Given the description of an element on the screen output the (x, y) to click on. 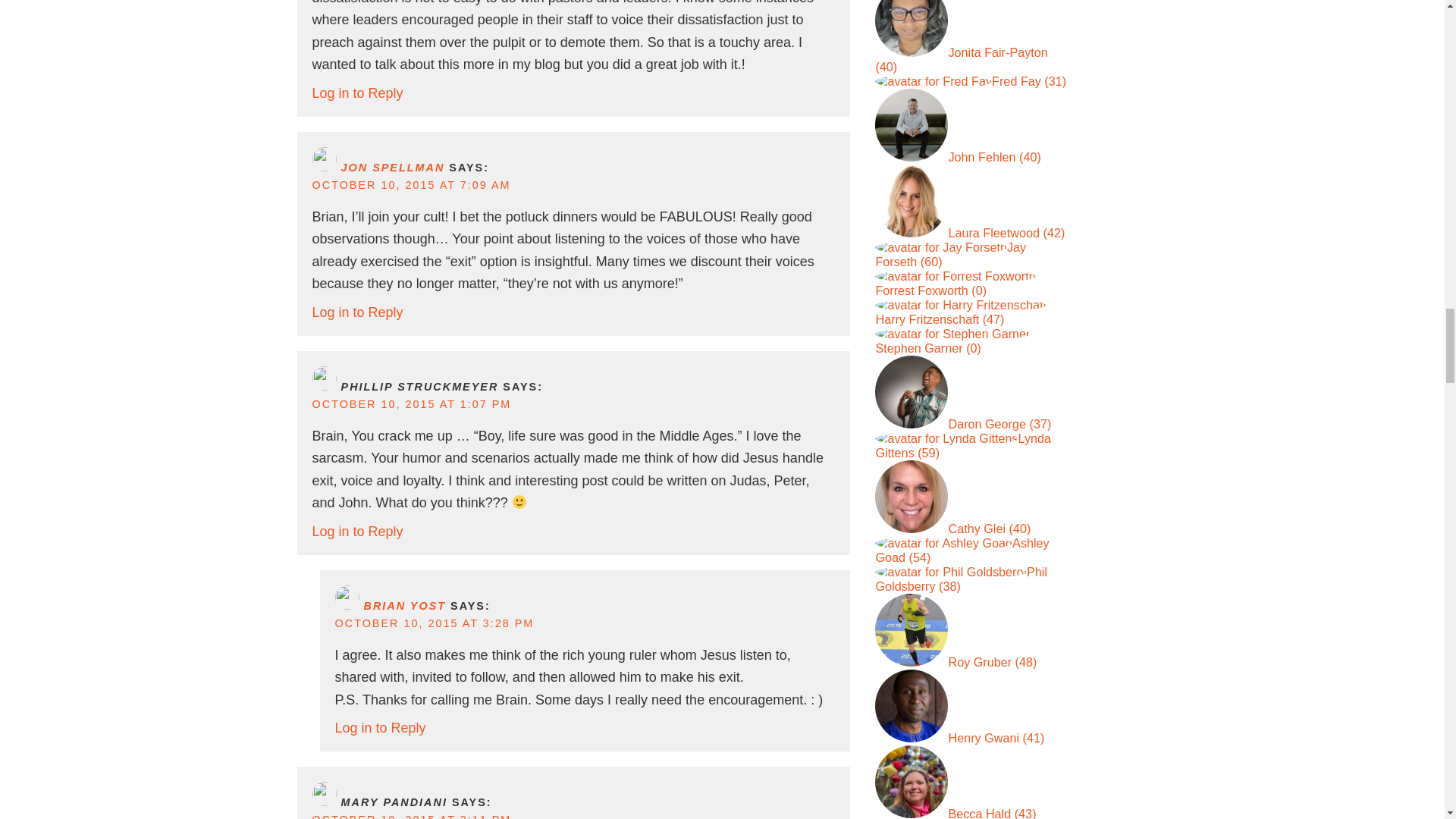
Log in to Reply (380, 727)
OCTOBER 10, 2015 AT 1:07 PM (412, 404)
Log in to Reply (358, 531)
BRIAN YOST (405, 605)
Log in to Reply (358, 92)
OCTOBER 10, 2015 AT 7:09 AM (412, 184)
Log in to Reply (358, 312)
OCTOBER 10, 2015 AT 3:28 PM (434, 623)
JON SPELLMAN (392, 167)
OCTOBER 10, 2015 AT 2:11 PM (412, 816)
